Given the description of an element on the screen output the (x, y) to click on. 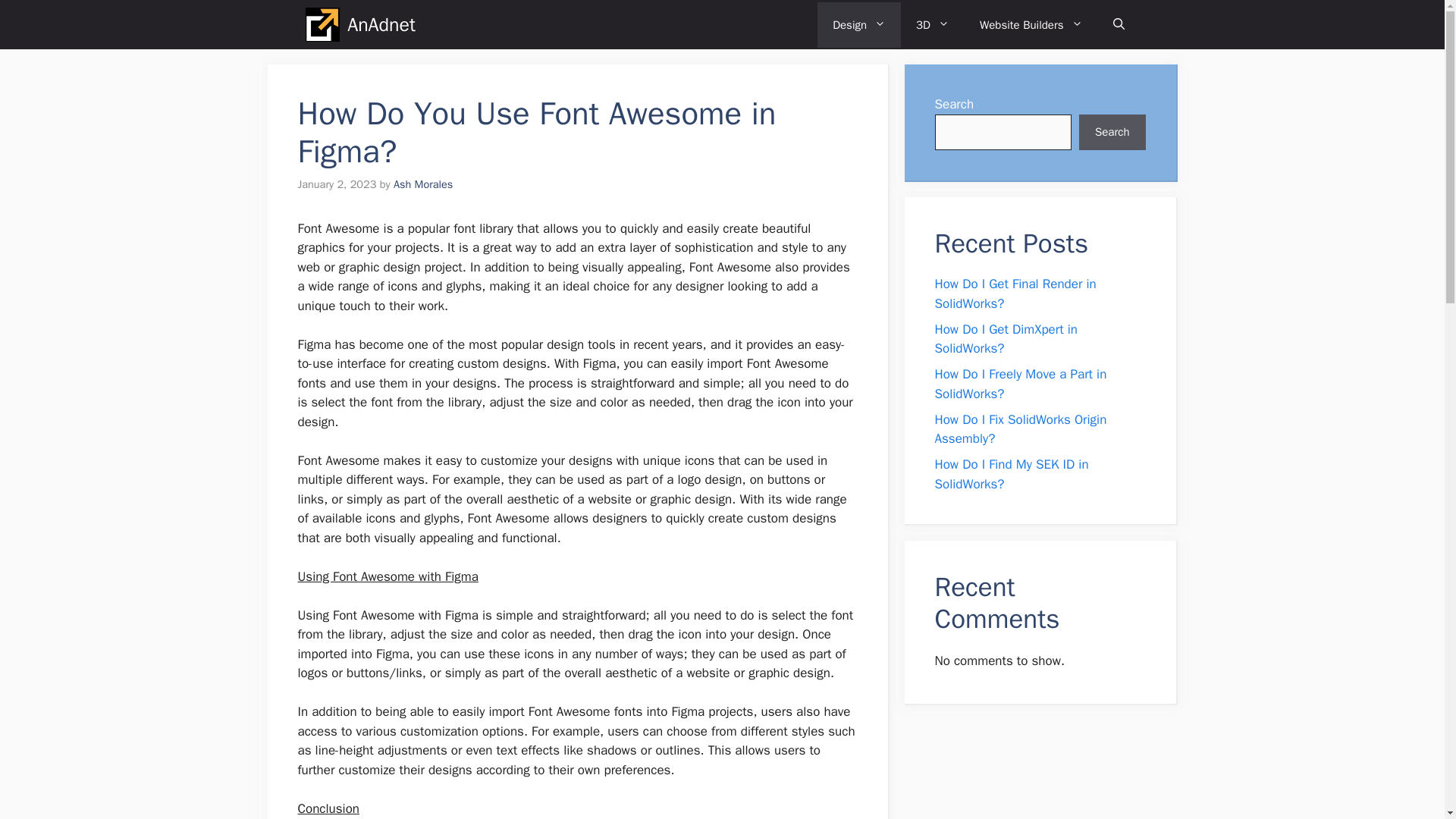
How Do I Freely Move a Part in SolidWorks? (1020, 384)
AnAdnet (380, 24)
How Do I Get Final Render in SolidWorks? (1015, 294)
How Do I Get DimXpert in SolidWorks? (1005, 339)
Design (858, 23)
Ash Morales (422, 183)
How Do I Fix SolidWorks Origin Assembly? (1020, 428)
Search (1111, 131)
Website Builders (1030, 23)
View all posts by Ash Morales (422, 183)
